Given the description of an element on the screen output the (x, y) to click on. 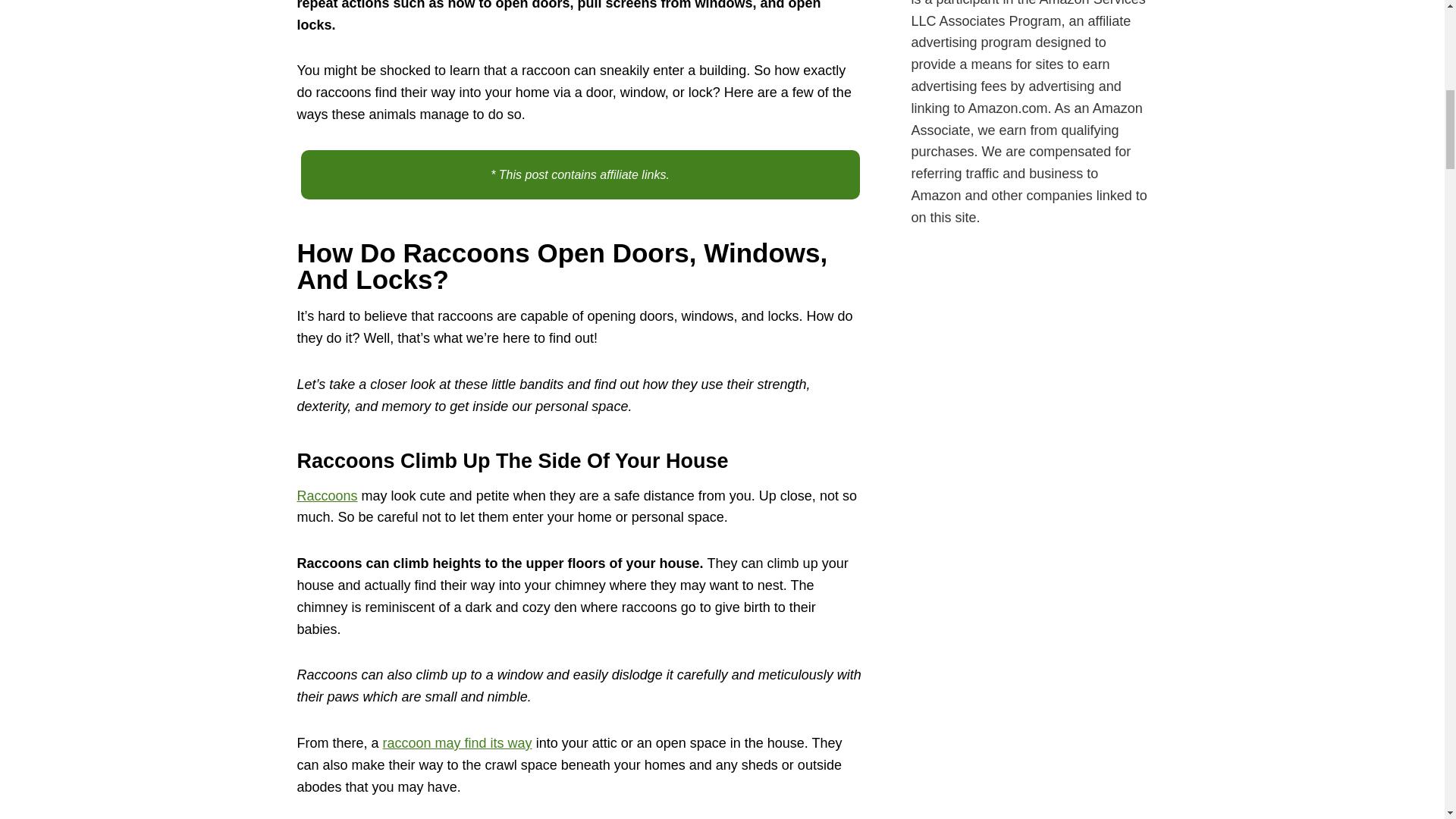
raccoon may find its way (457, 743)
Raccoons (327, 495)
